Given the description of an element on the screen output the (x, y) to click on. 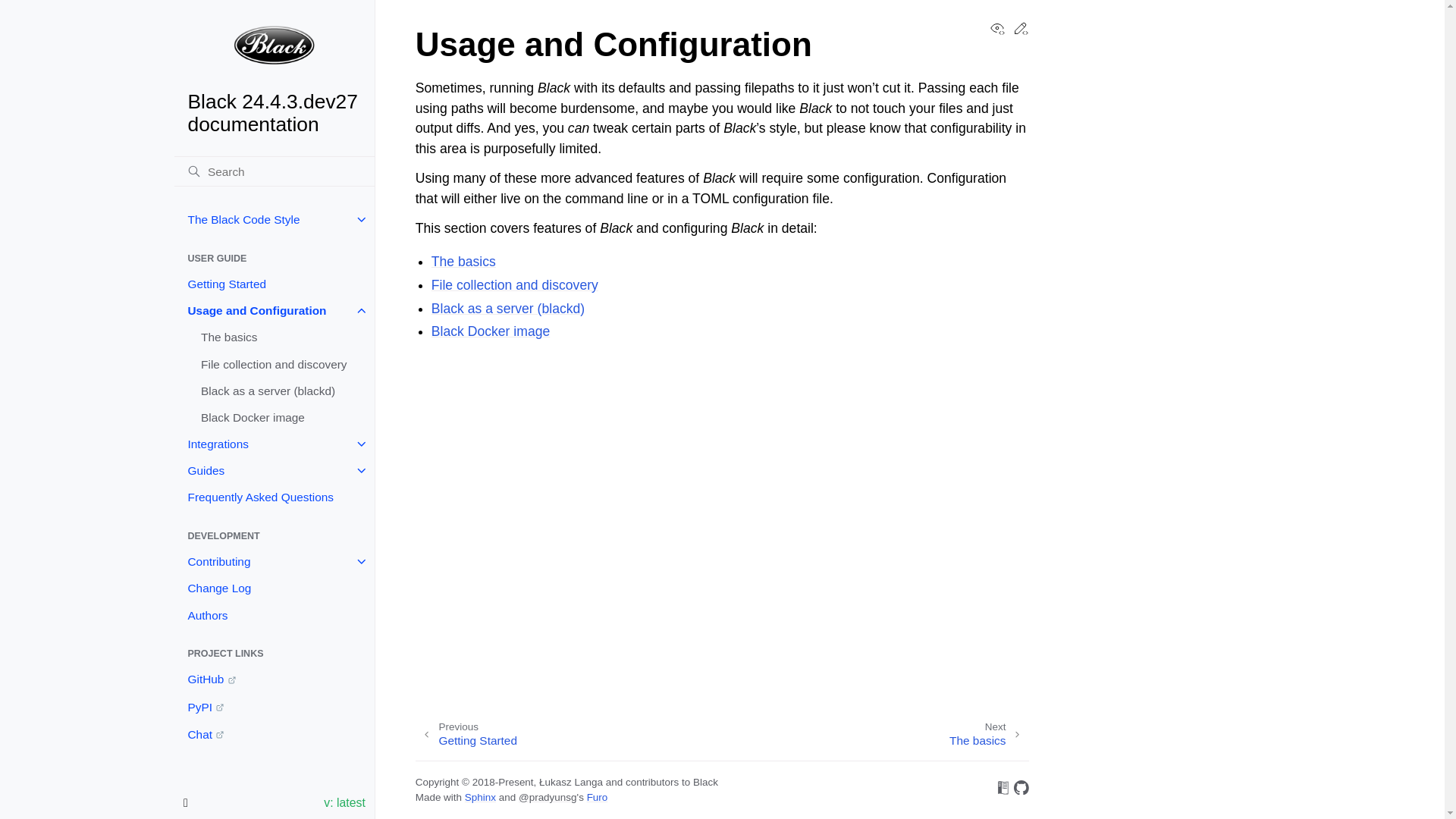
Contributing (274, 560)
Integrations (274, 443)
The Black Code Style (274, 219)
Getting Started (274, 284)
Edit this page (1020, 31)
PyPI (274, 707)
Authors (274, 614)
GitHub (274, 679)
Chat (274, 734)
The basics (280, 337)
Black Docker image (280, 417)
View this page (997, 31)
Change Log (274, 588)
Frequently Asked Questions (274, 497)
Guides (274, 470)
